Given the description of an element on the screen output the (x, y) to click on. 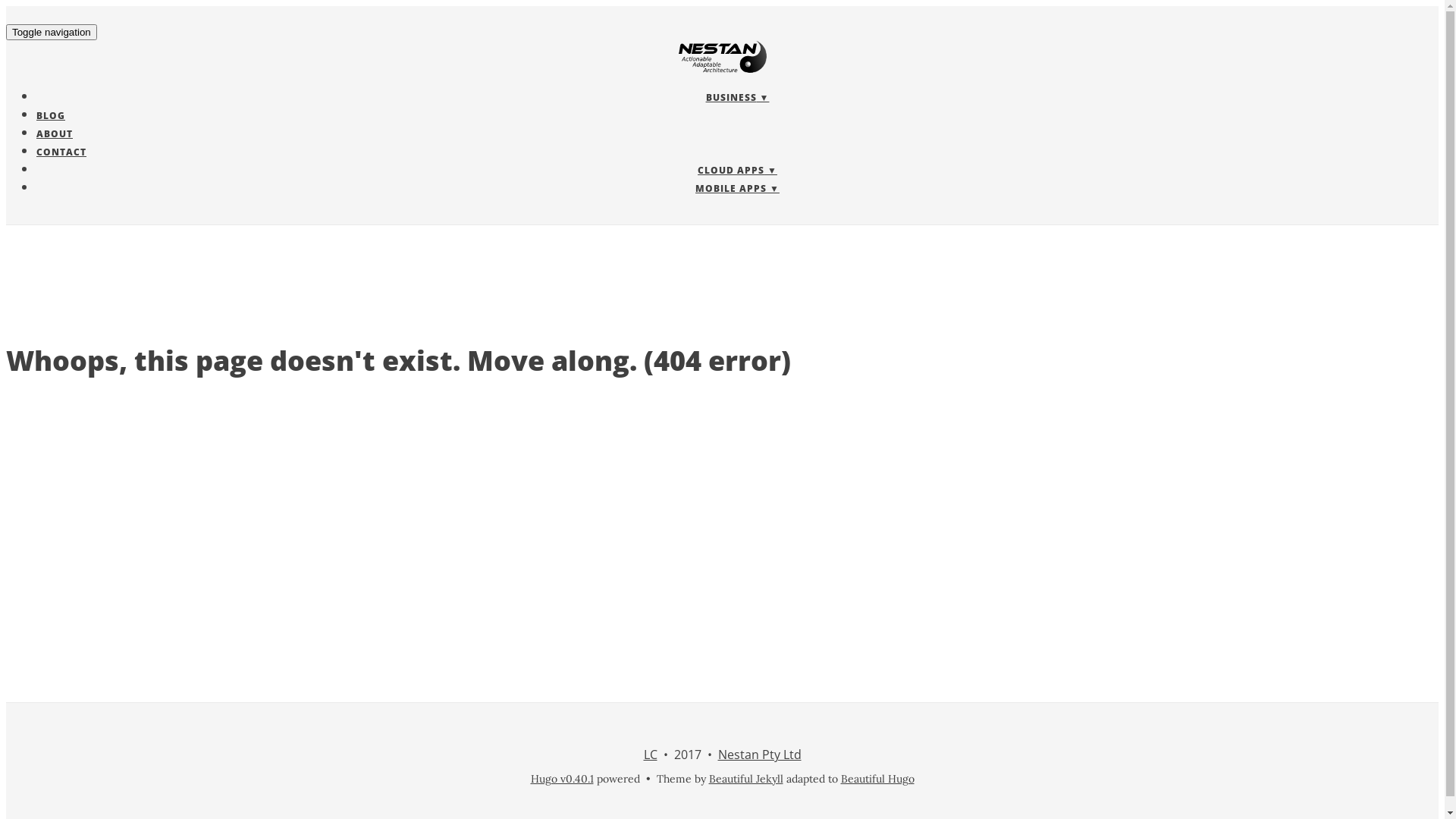
Toggle navigation Element type: text (51, 32)
Nestan Pty Ltd Element type: text (758, 754)
Hugo v0.40.1 Element type: text (561, 778)
MOBILE APPS Element type: text (737, 188)
ABOUT Element type: text (54, 133)
CLOUD APPS Element type: text (737, 169)
CONTACT Element type: text (61, 151)
BUSINESS Element type: text (737, 97)
Beautiful Jekyll Element type: text (745, 778)
BLOG Element type: text (50, 115)
LC Element type: text (649, 754)
Beautiful Hugo Element type: text (876, 778)
